Given the description of an element on the screen output the (x, y) to click on. 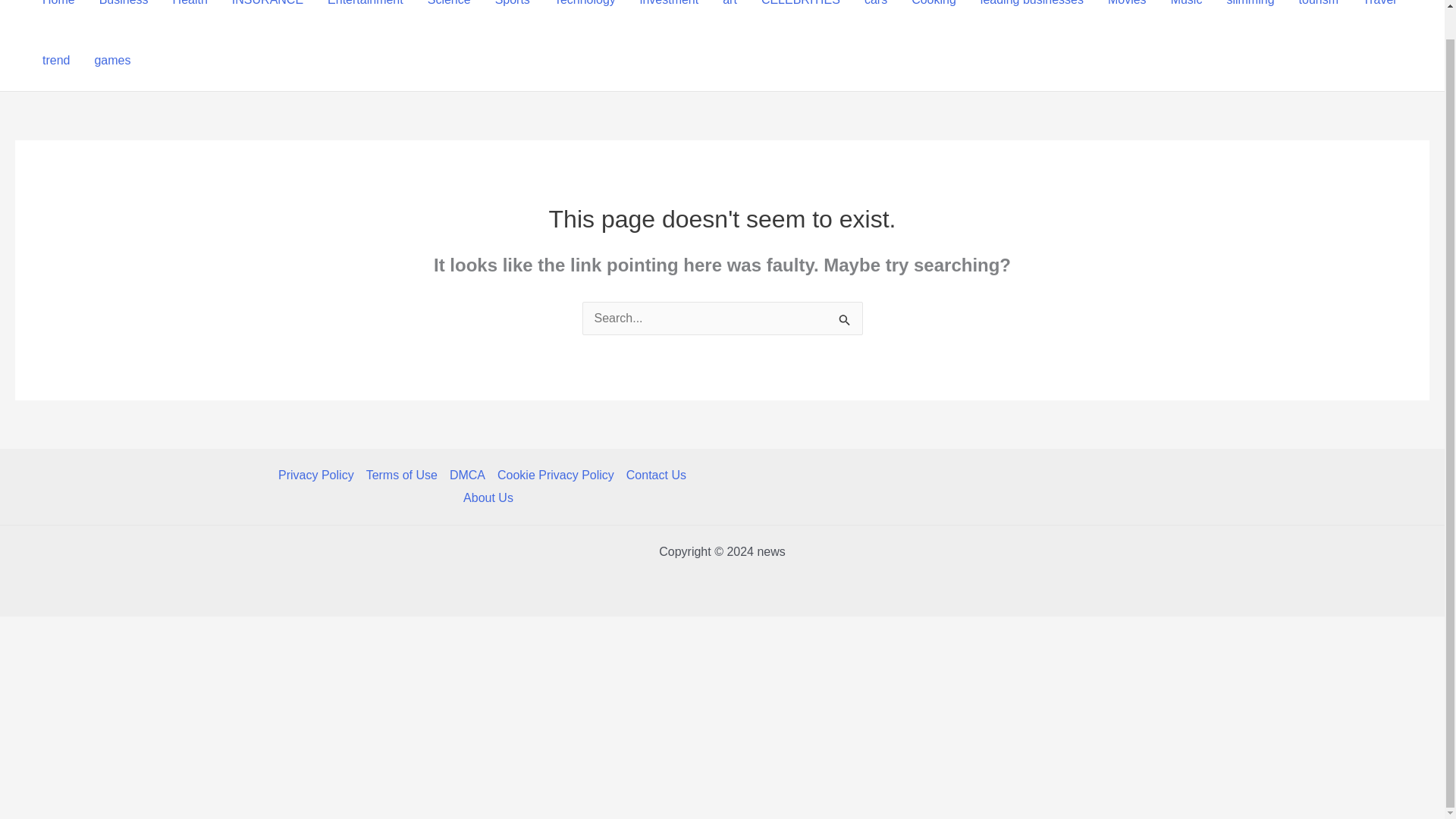
Health (189, 15)
Entertainment (364, 15)
INSURANCE (267, 15)
Music (1186, 15)
investment (668, 15)
games (111, 60)
CELEBRITIES (800, 15)
Technology (584, 15)
Privacy Policy (318, 475)
cars (875, 15)
